Given the description of an element on the screen output the (x, y) to click on. 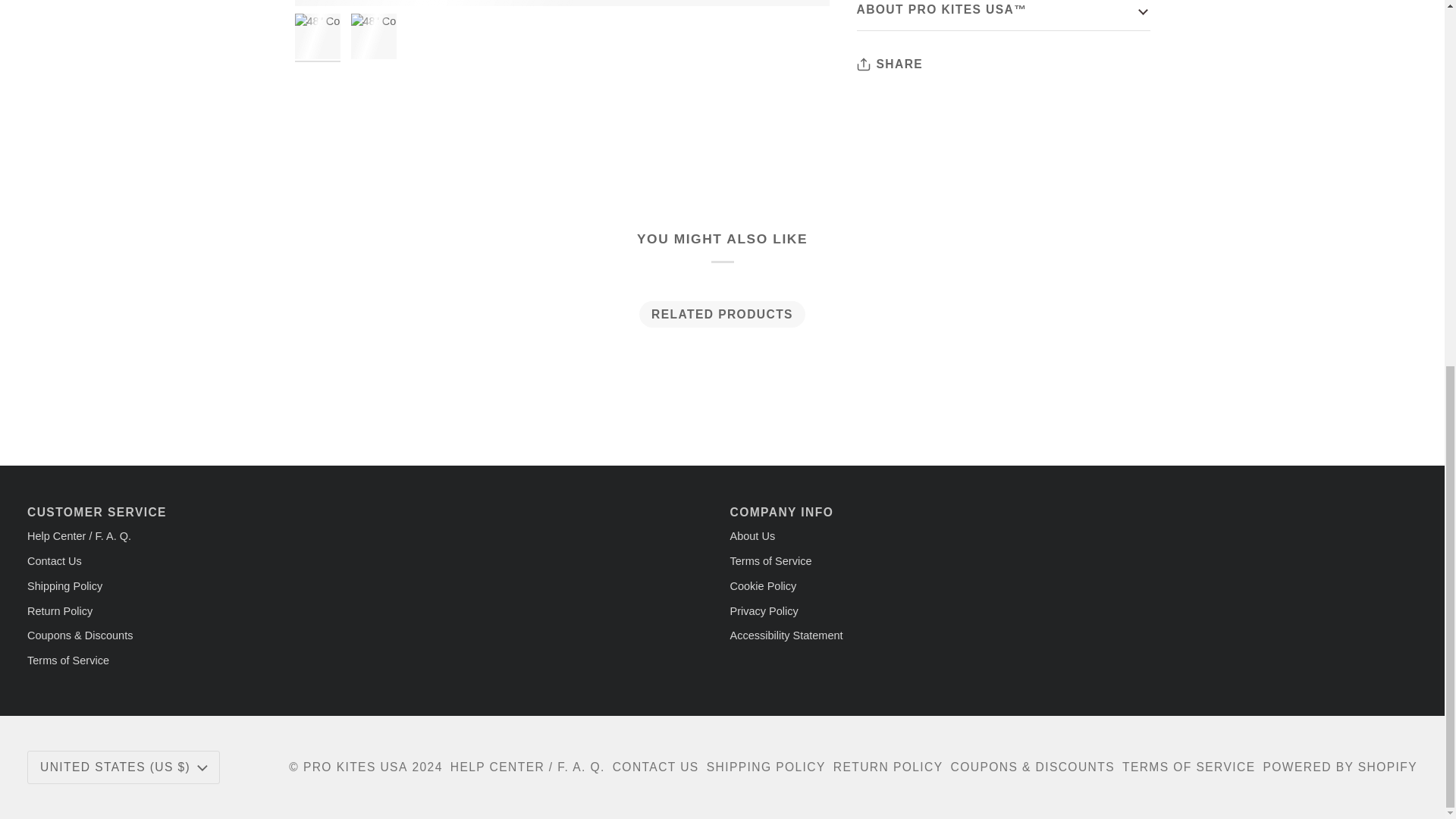
RELATED PRODUCTS (721, 314)
